Given the description of an element on the screen output the (x, y) to click on. 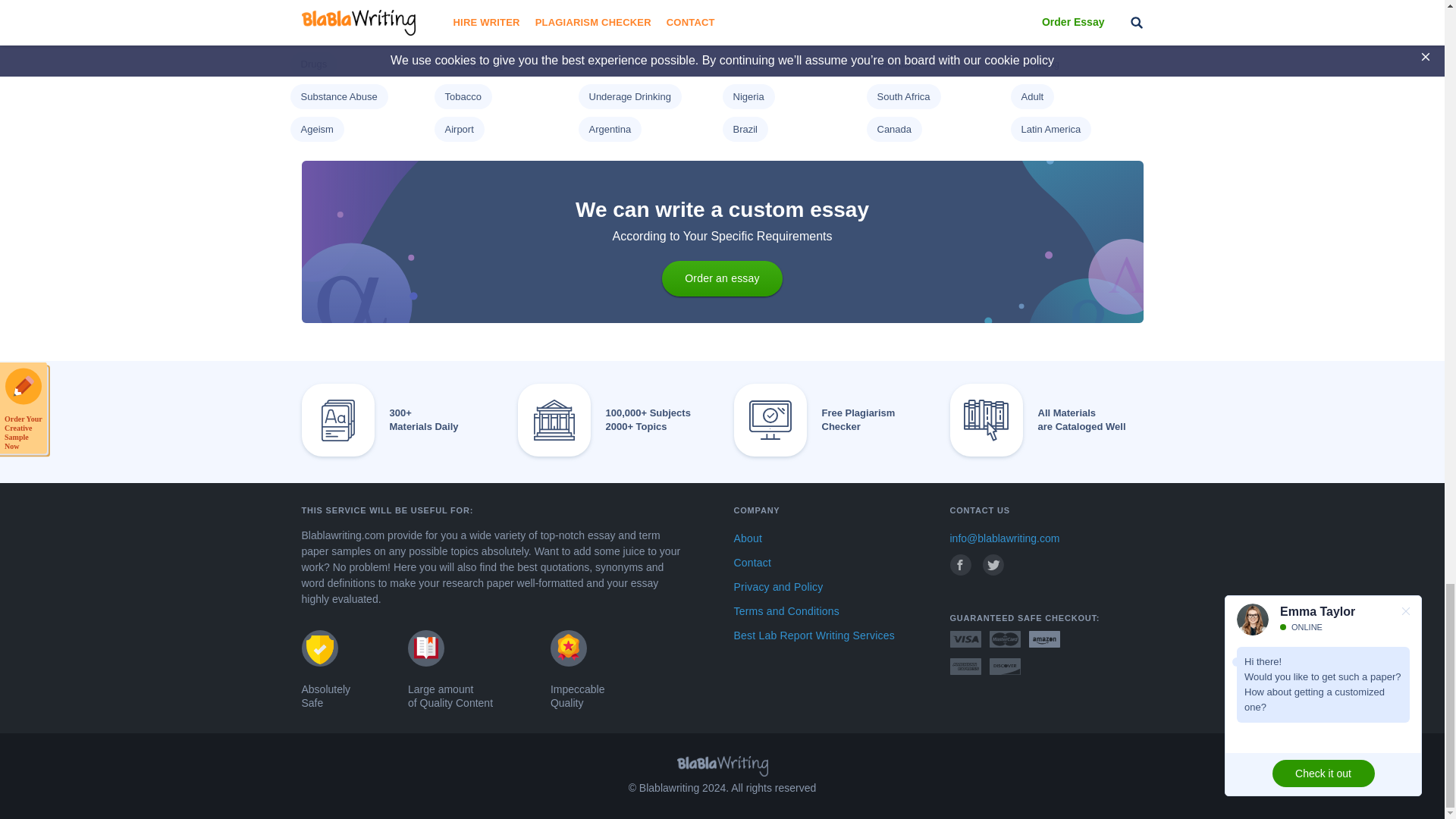
Drug Addiction (1052, 30)
Socialism (320, 2)
Alcoholism (468, 30)
Cannabis (753, 30)
Alcohol Abuse (330, 30)
Balance Sheet (620, 2)
Drug Abuse (902, 30)
Tax (883, 2)
Abuse (1034, 2)
Audit (455, 2)
Cash (743, 2)
Caffeine (606, 30)
Drugs (312, 63)
